Given the description of an element on the screen output the (x, y) to click on. 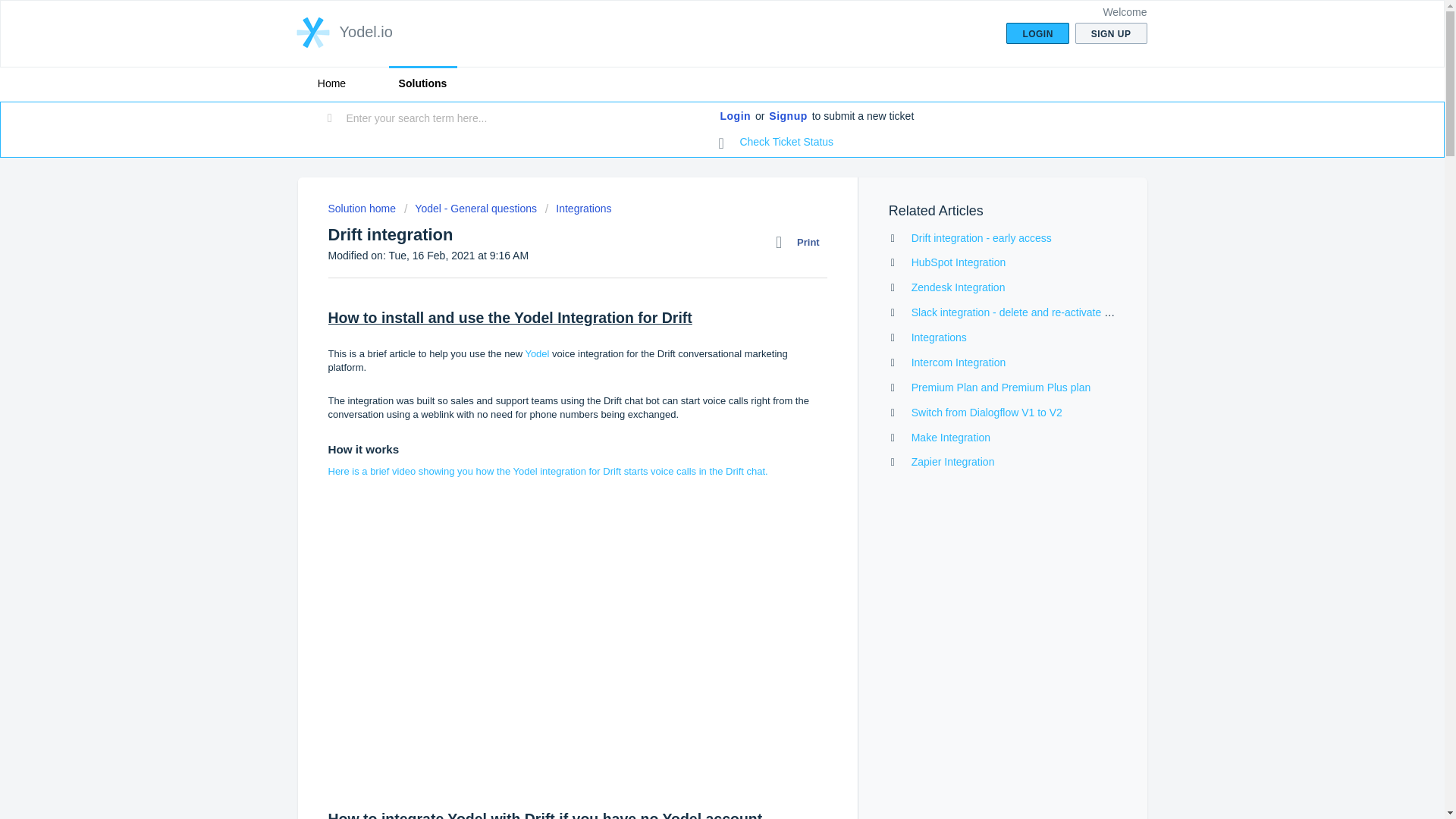
Yodel - General questions (470, 208)
Solutions (422, 83)
Check ticket status (776, 142)
Slack integration - delete and re-activate integration (1032, 312)
Integrations (938, 337)
Print this Article (801, 242)
HubSpot Integration (958, 262)
Print (801, 242)
Intercom Integration (958, 362)
Solution home (362, 208)
